Given the description of an element on the screen output the (x, y) to click on. 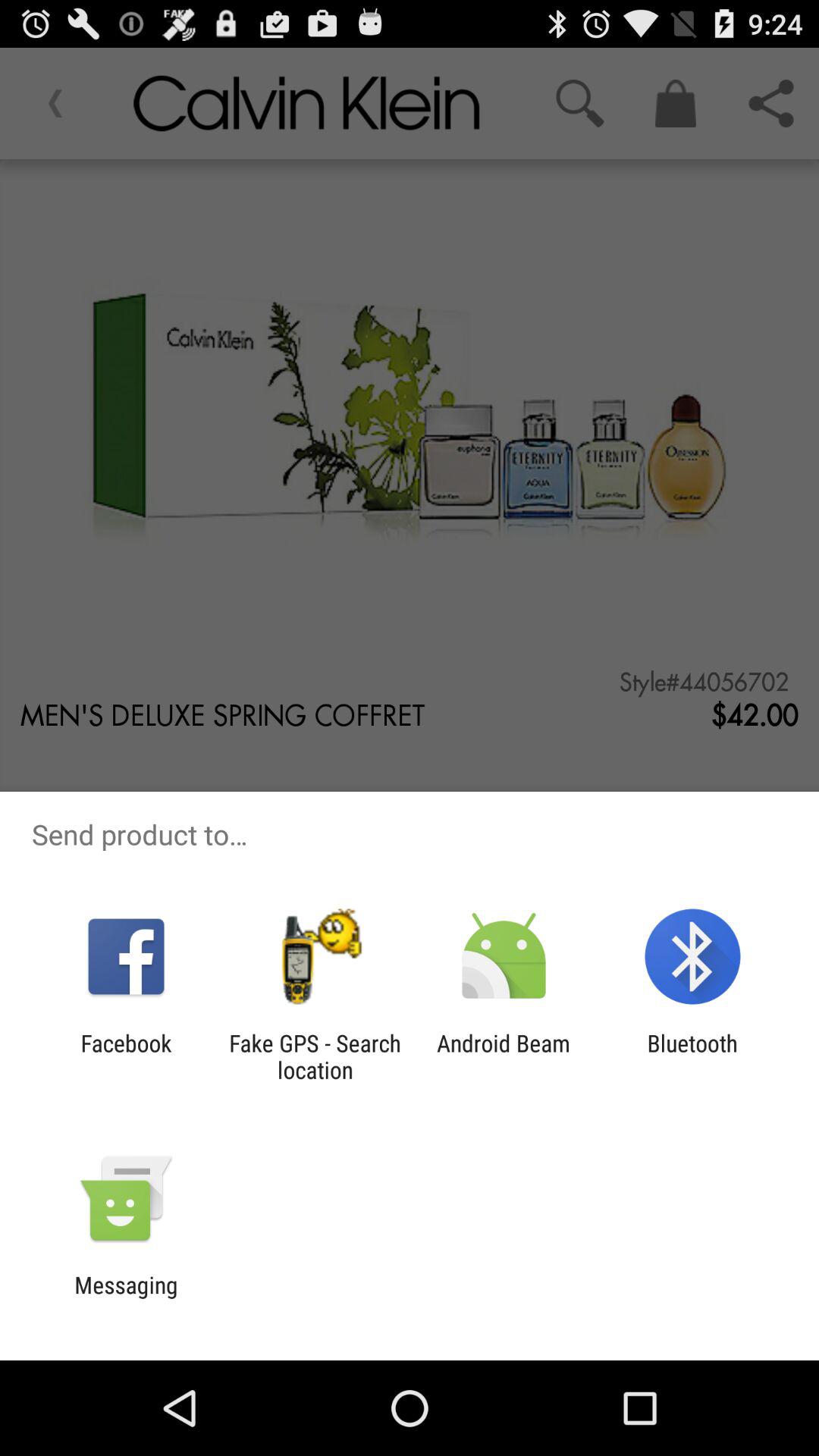
click icon next to facebook (314, 1056)
